Given the description of an element on the screen output the (x, y) to click on. 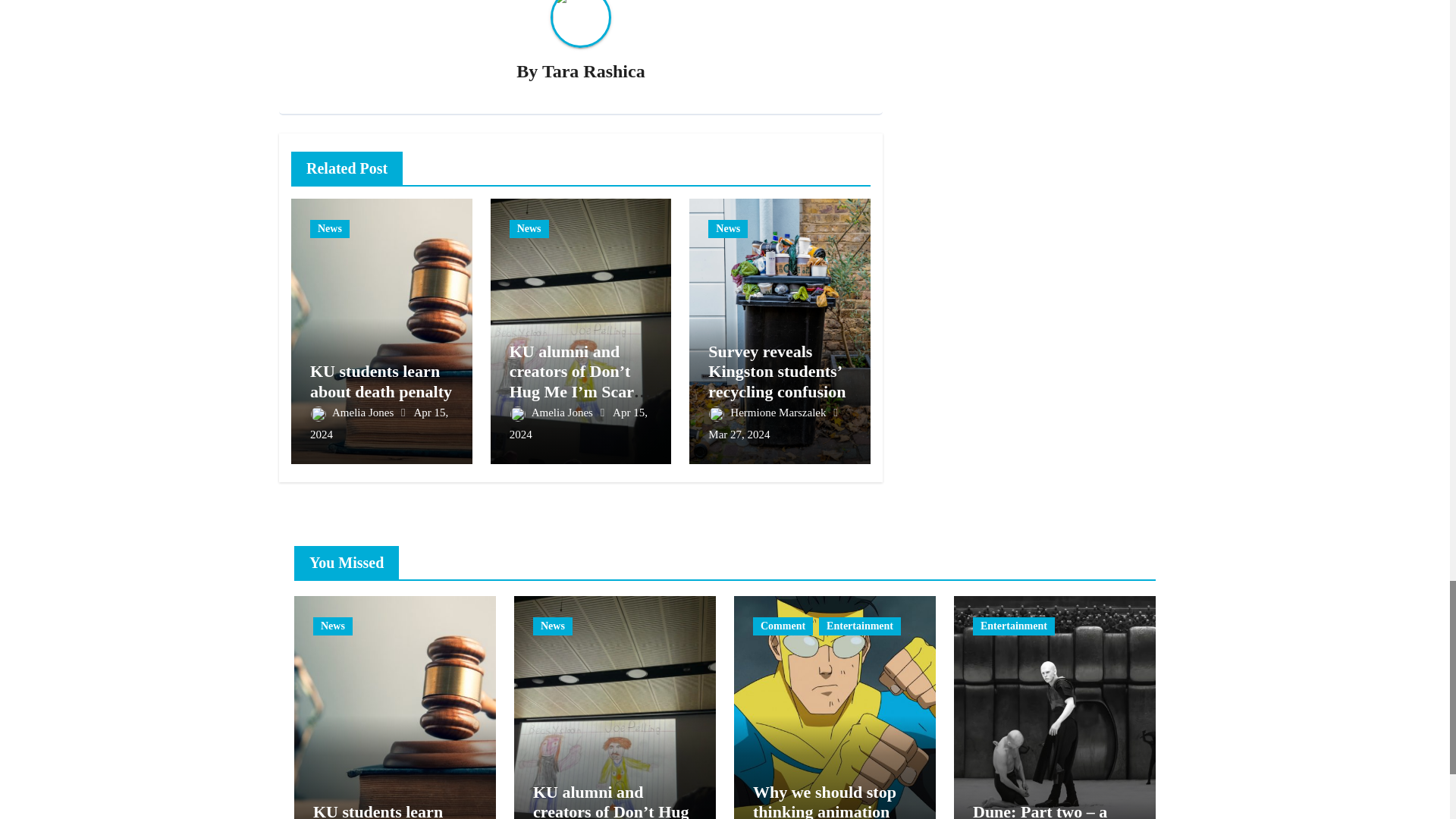
Permalink to: KU students learn about death penalty (380, 380)
